Given the description of an element on the screen output the (x, y) to click on. 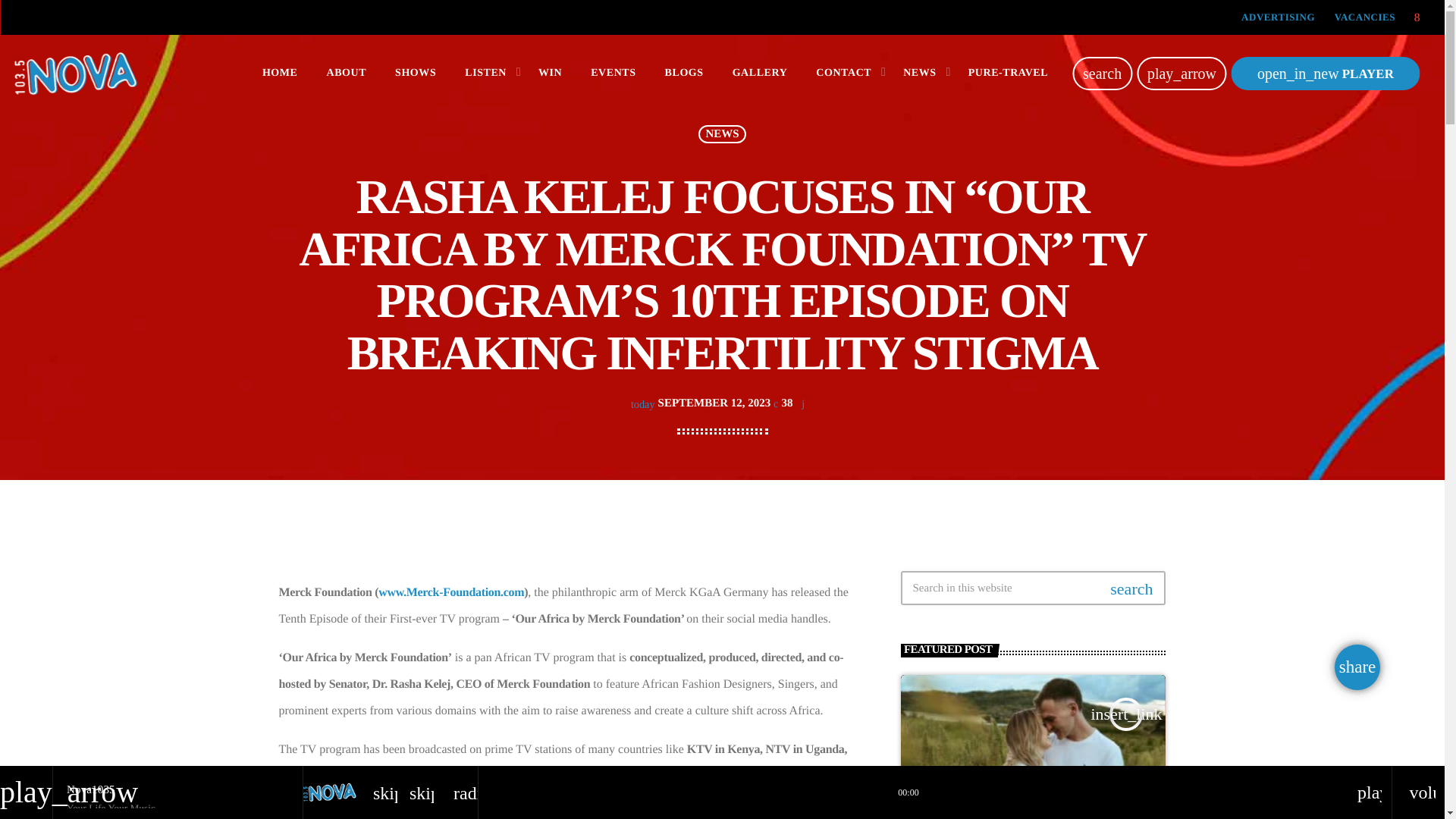
ADVERTISING (1278, 17)
VACANCIES (1364, 17)
PURE-TRAVEL (1007, 73)
EVENTS (612, 73)
search (1101, 73)
ABOUT (345, 73)
BLOGS (683, 73)
NEWS (920, 73)
HOME (280, 73)
CONTACT (845, 73)
WIN (550, 73)
GALLERY (759, 73)
SHOWS (414, 73)
LISTEN (486, 73)
